Given the description of an element on the screen output the (x, y) to click on. 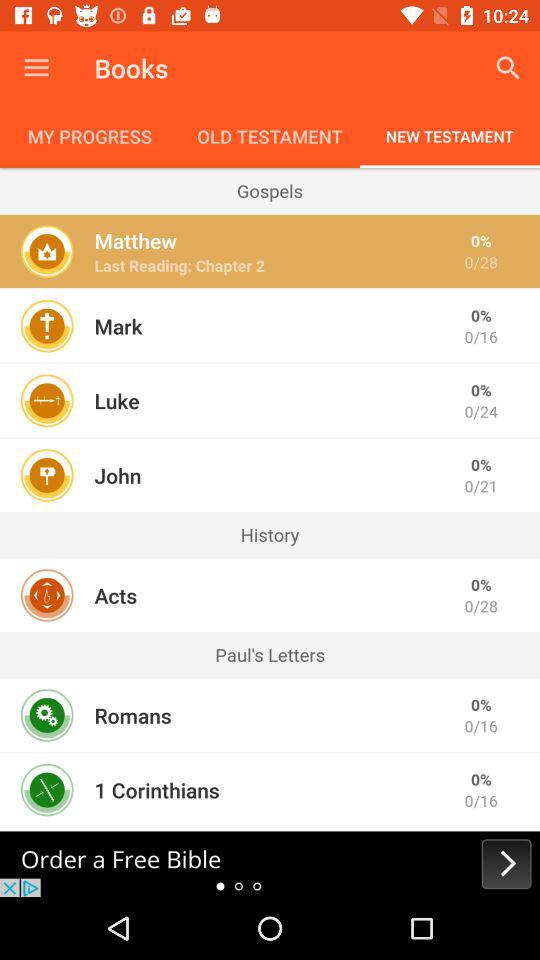
choose the icon to the left of 0/28 item (135, 240)
